Given the description of an element on the screen output the (x, y) to click on. 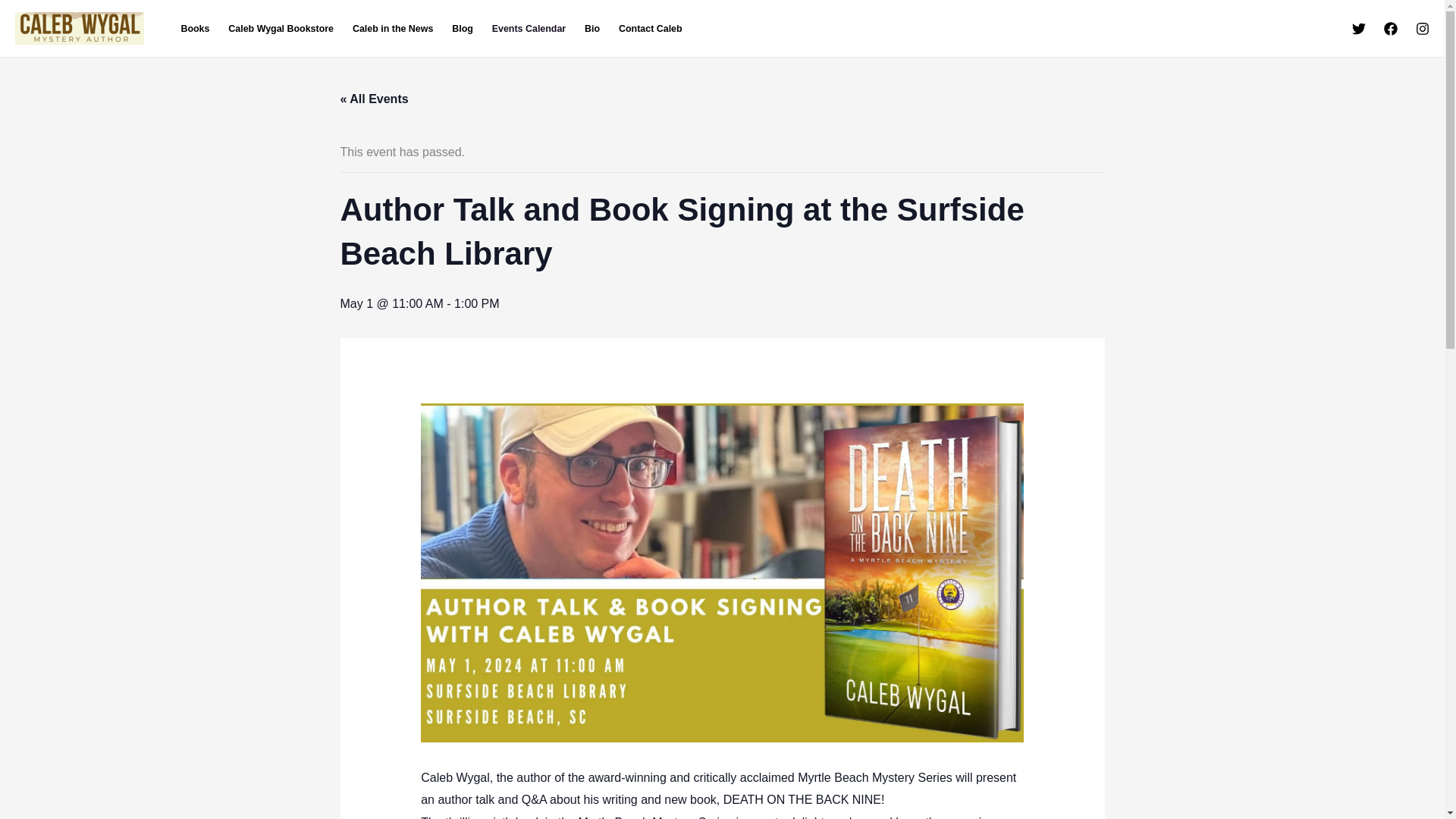
Caleb in the News (392, 27)
Bio (592, 27)
Caleb Wygal Bookstore (281, 27)
Events Calendar (528, 27)
Books (195, 27)
Blog (462, 27)
Contact Caleb (651, 27)
